Given the description of an element on the screen output the (x, y) to click on. 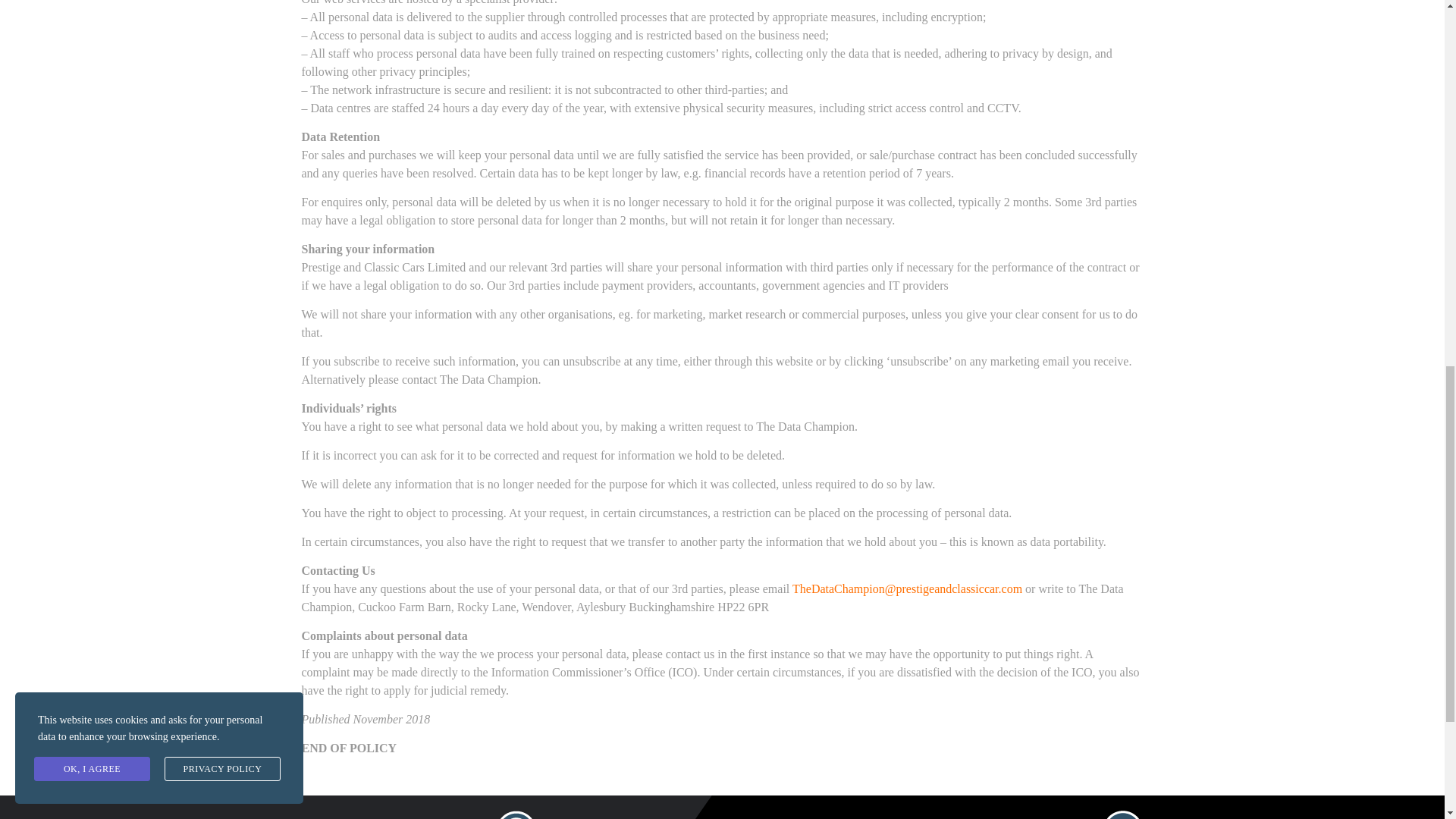
SELL YOUR CAR (419, 814)
SIGN UP FOR NEWSLETTER (976, 814)
